Given the description of an element on the screen output the (x, y) to click on. 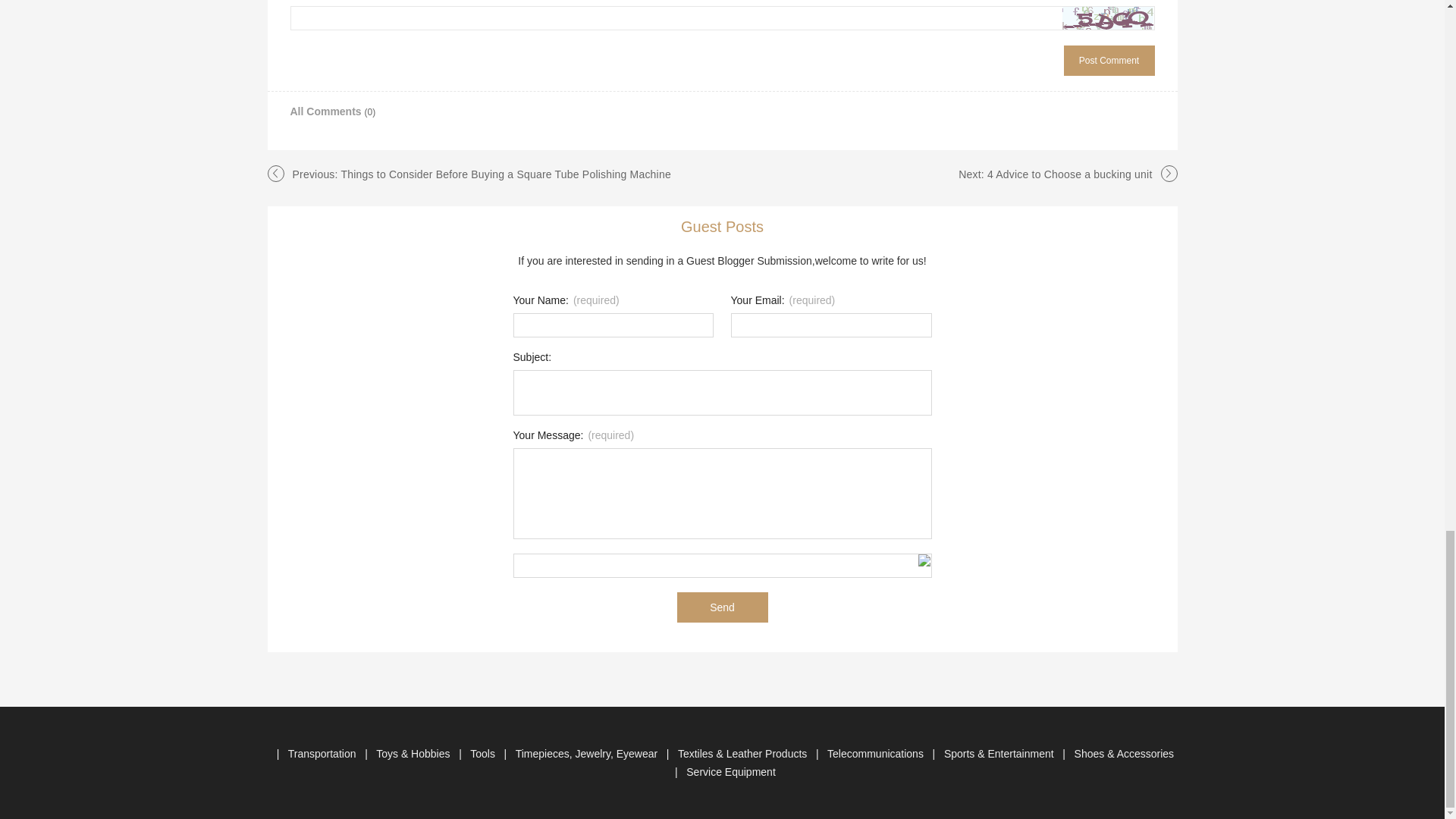
Post Comment (1108, 60)
Send (722, 607)
